Given the description of an element on the screen output the (x, y) to click on. 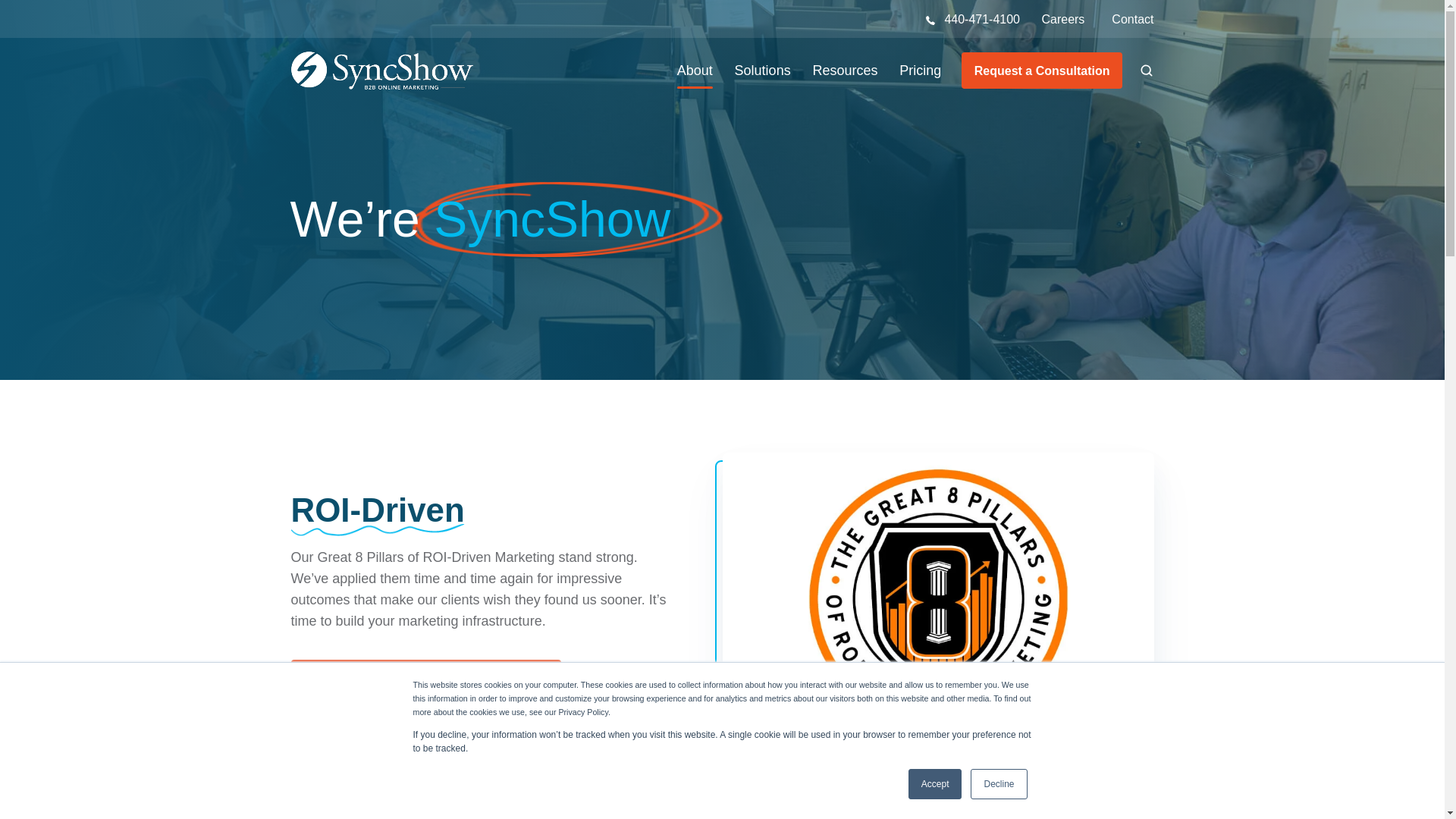
Accept (935, 784)
440-471-4100 (981, 19)
Resources (844, 70)
SyncShow B2B Digital Marketing (382, 70)
Solutions (762, 70)
Decline (998, 784)
Contact (1132, 19)
Careers (1062, 19)
Request a Consultation (1041, 70)
About (695, 70)
